Given the description of an element on the screen output the (x, y) to click on. 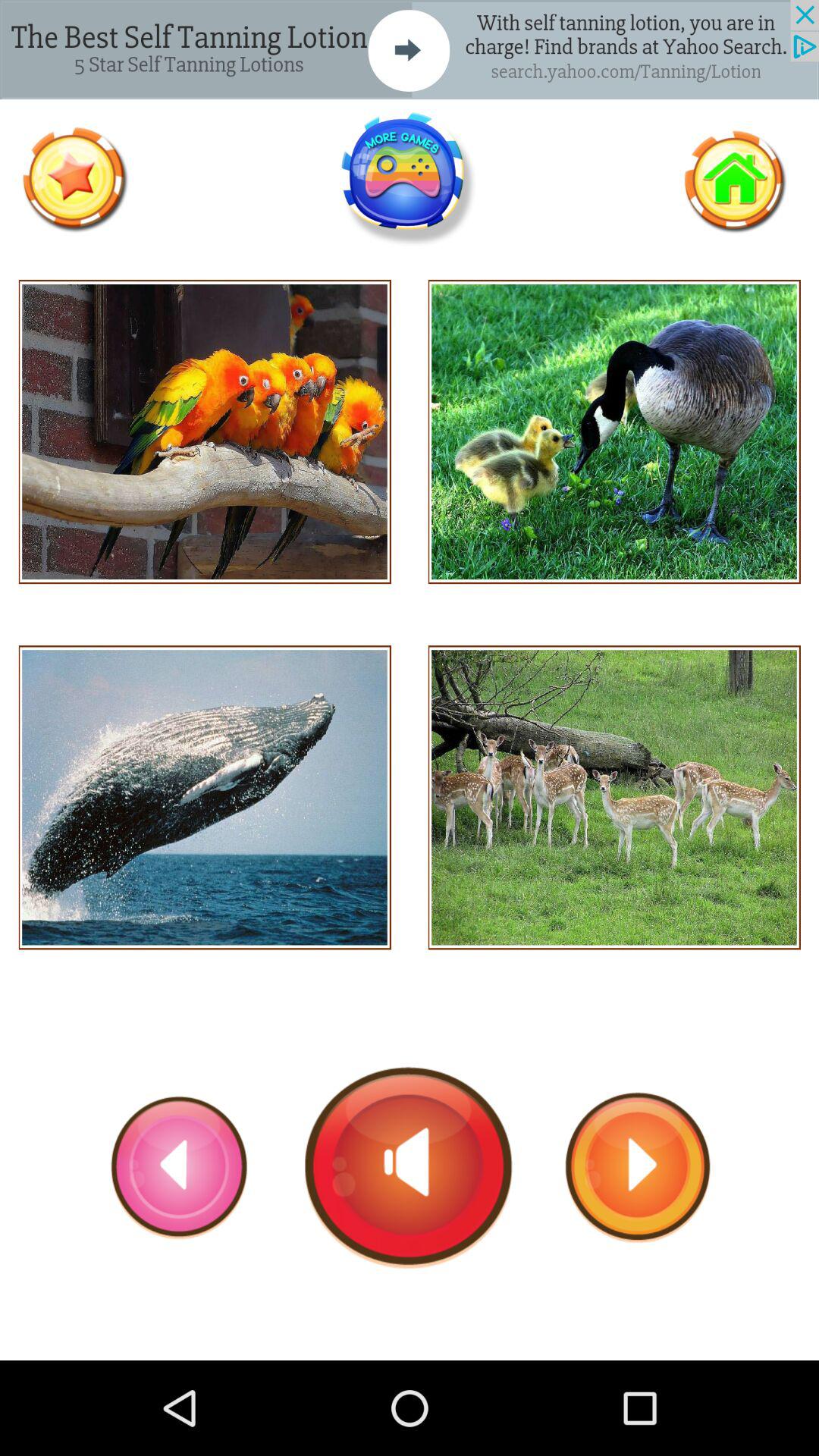
advertisement (409, 49)
